Given the description of an element on the screen output the (x, y) to click on. 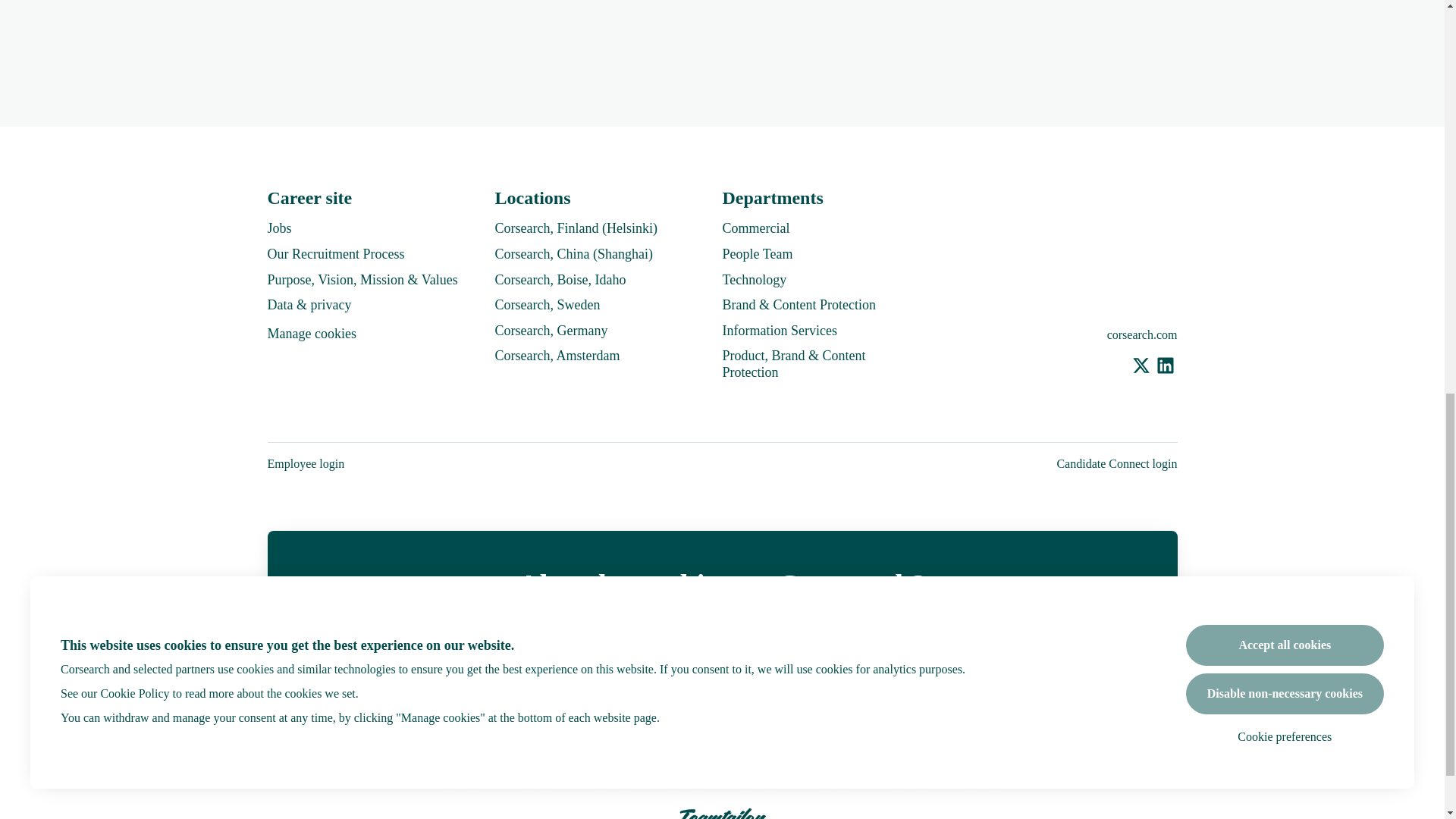
Stuart Durham (462, 744)
People Team (757, 253)
Angela Williams (834, 744)
Corsearch, Boise, Idaho (560, 279)
Information Services (778, 330)
Corsearch, Sweden (547, 304)
Our Recruitment Process (335, 253)
x-twitter (1140, 366)
Corsearch, Germany (551, 330)
Commercial (755, 228)
Jobs (278, 228)
Technology (754, 279)
Jan-Maarten Laurijssen (908, 744)
Tyler Roberts (685, 744)
Manage cookies (310, 333)
